Given the description of an element on the screen output the (x, y) to click on. 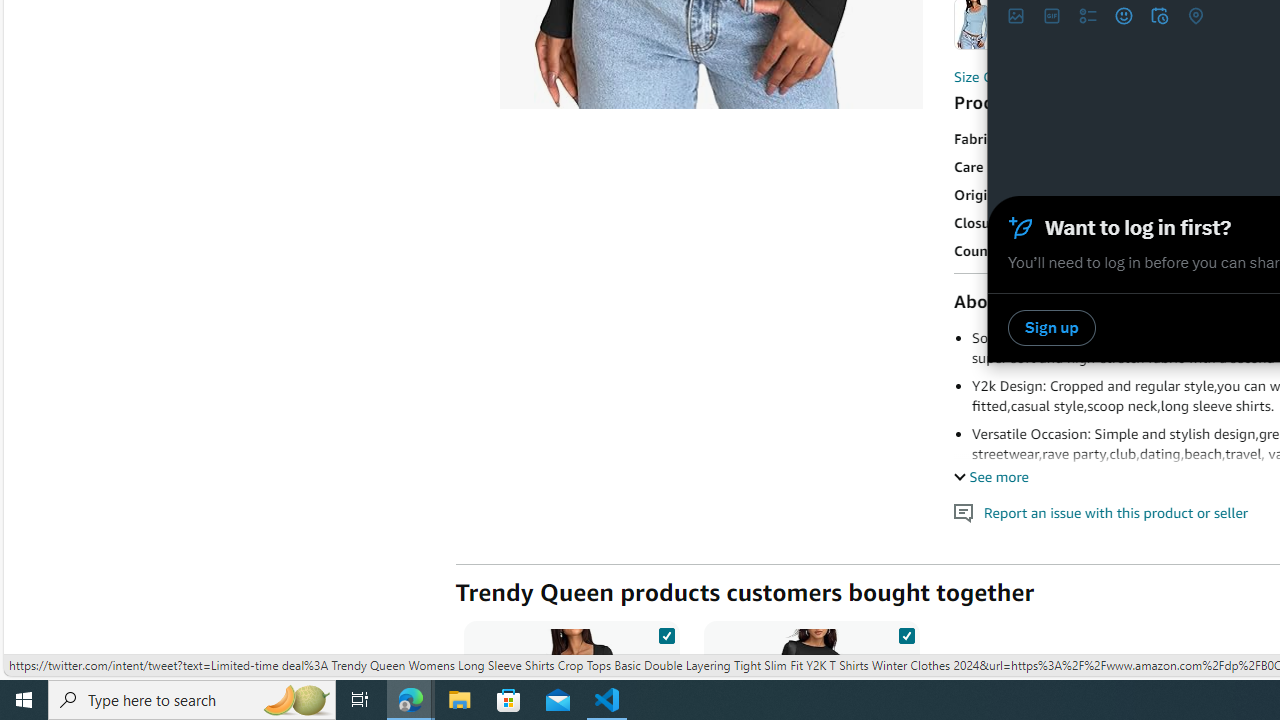
Visual Studio Code - 1 running window (607, 699)
Microsoft Edge - 3 running windows (411, 699)
Report an issue with this product or seller (963, 512)
File Explorer (460, 699)
Start (24, 699)
AutomationID: thematicBundleCheck-2 (906, 632)
AutomationID: thematicBundleCheck-1 (665, 632)
Microsoft Store (509, 699)
Type here to search (191, 699)
Task View (359, 699)
Search highlights icon opens search home window (295, 699)
